Given the description of an element on the screen output the (x, y) to click on. 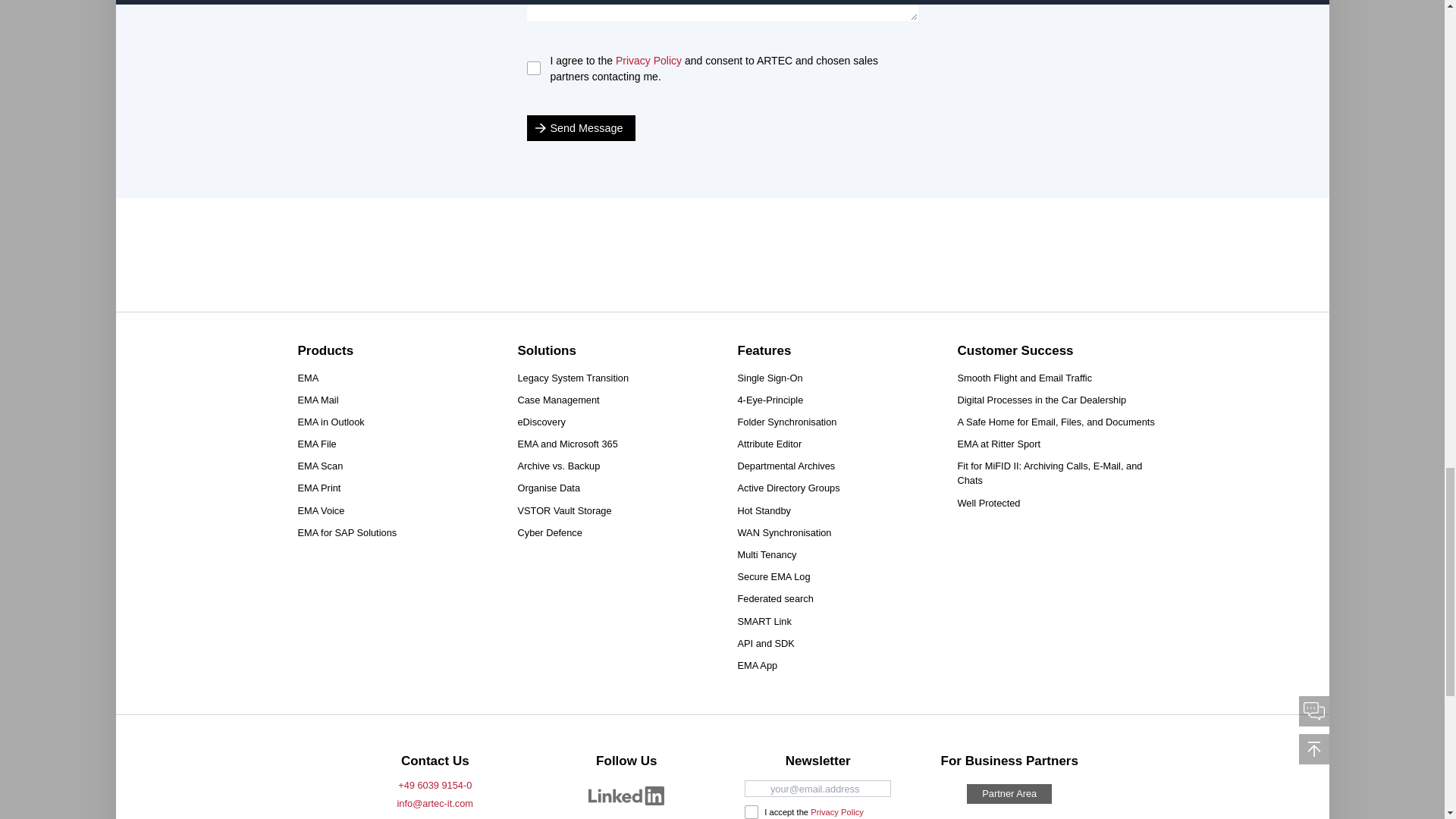
Send Message (579, 127)
Send Message (579, 127)
EMA (307, 377)
EMA in Outlook (330, 422)
EMA File (316, 444)
Privacy Policy (648, 60)
EMA Mail (317, 400)
